Given the description of an element on the screen output the (x, y) to click on. 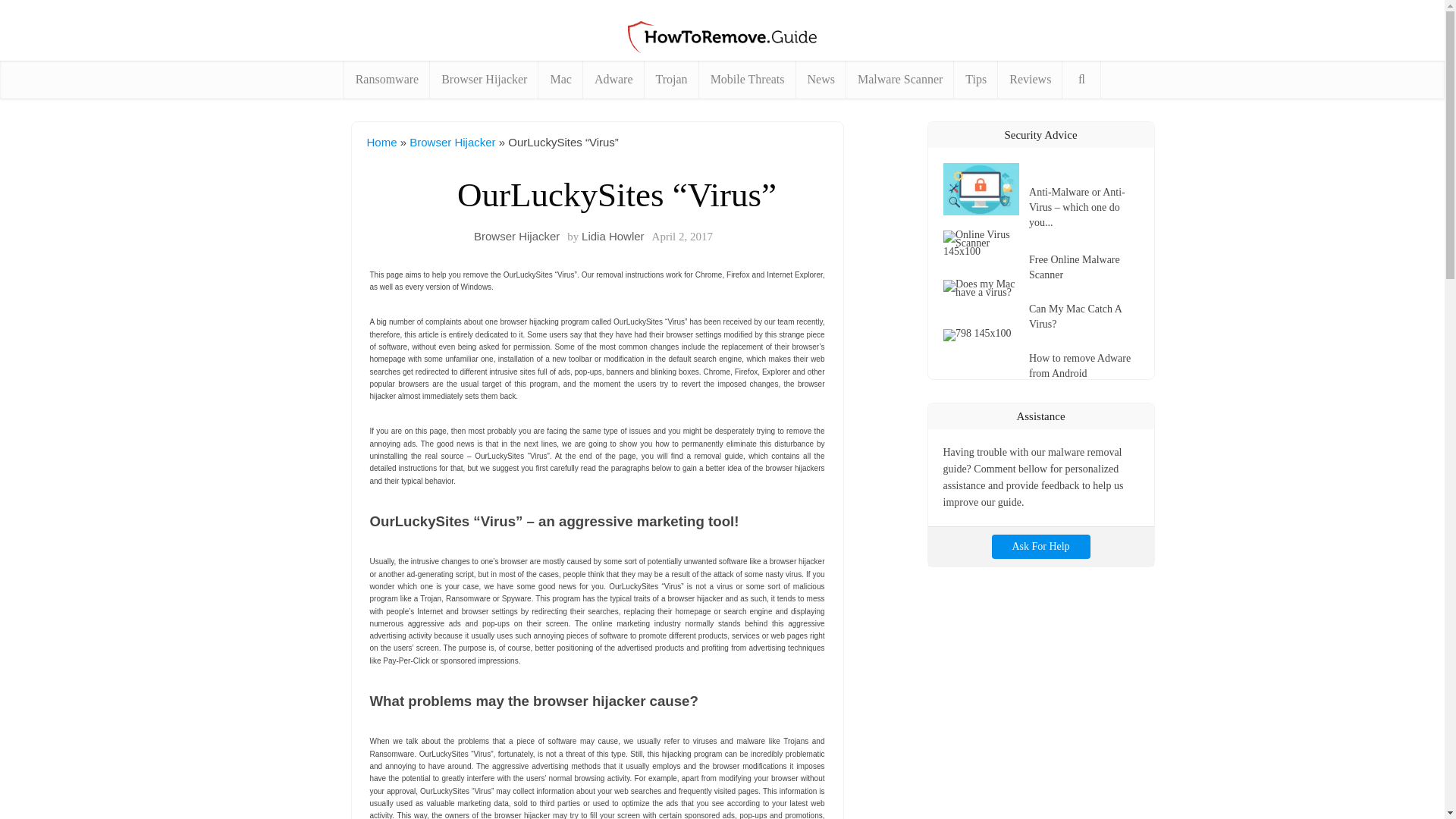
Browser Hijacker (452, 141)
Can My Mac Catch A Virus? (986, 288)
How to remove Adware from Android (986, 335)
How to remove Adware from Android (1083, 364)
Mobile Threats (747, 79)
Mac (560, 79)
Can My Mac Catch A Virus? (1083, 315)
Browser Hijacker (483, 79)
News (820, 79)
Trojan (671, 79)
Free Online Malware Scanner (1083, 265)
Home (381, 141)
How to remove Adware from Android (1083, 364)
Lidia Howler (612, 236)
Tips (975, 79)
